Given the description of an element on the screen output the (x, y) to click on. 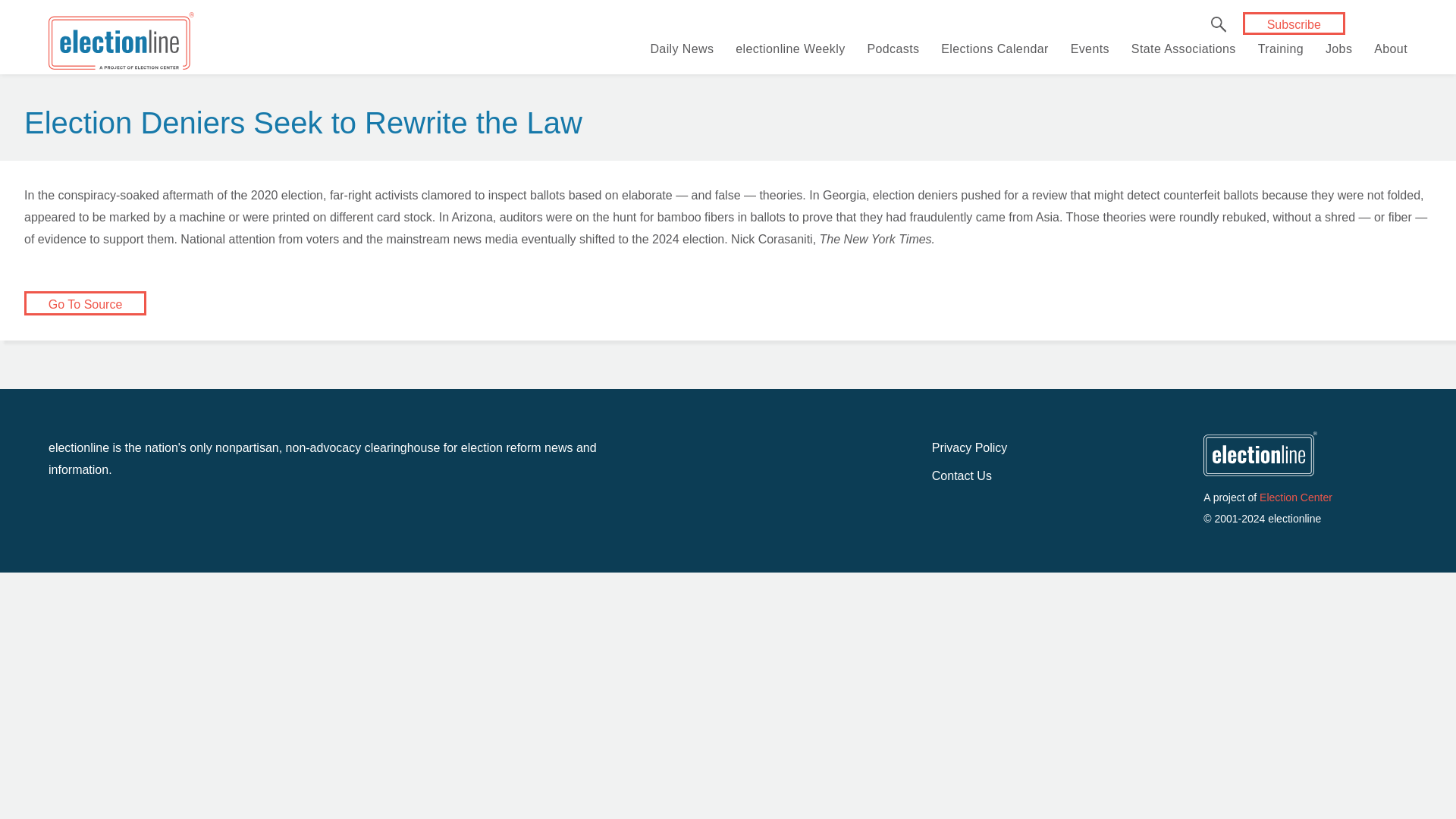
Instagram (1437, 24)
Jobs (1338, 48)
electionline (120, 44)
Events (1089, 48)
Threads (1413, 24)
About (1390, 48)
Training (1280, 48)
Podcasts (892, 48)
Privacy Policy (969, 447)
Elections Calendar (994, 48)
